Given the description of an element on the screen output the (x, y) to click on. 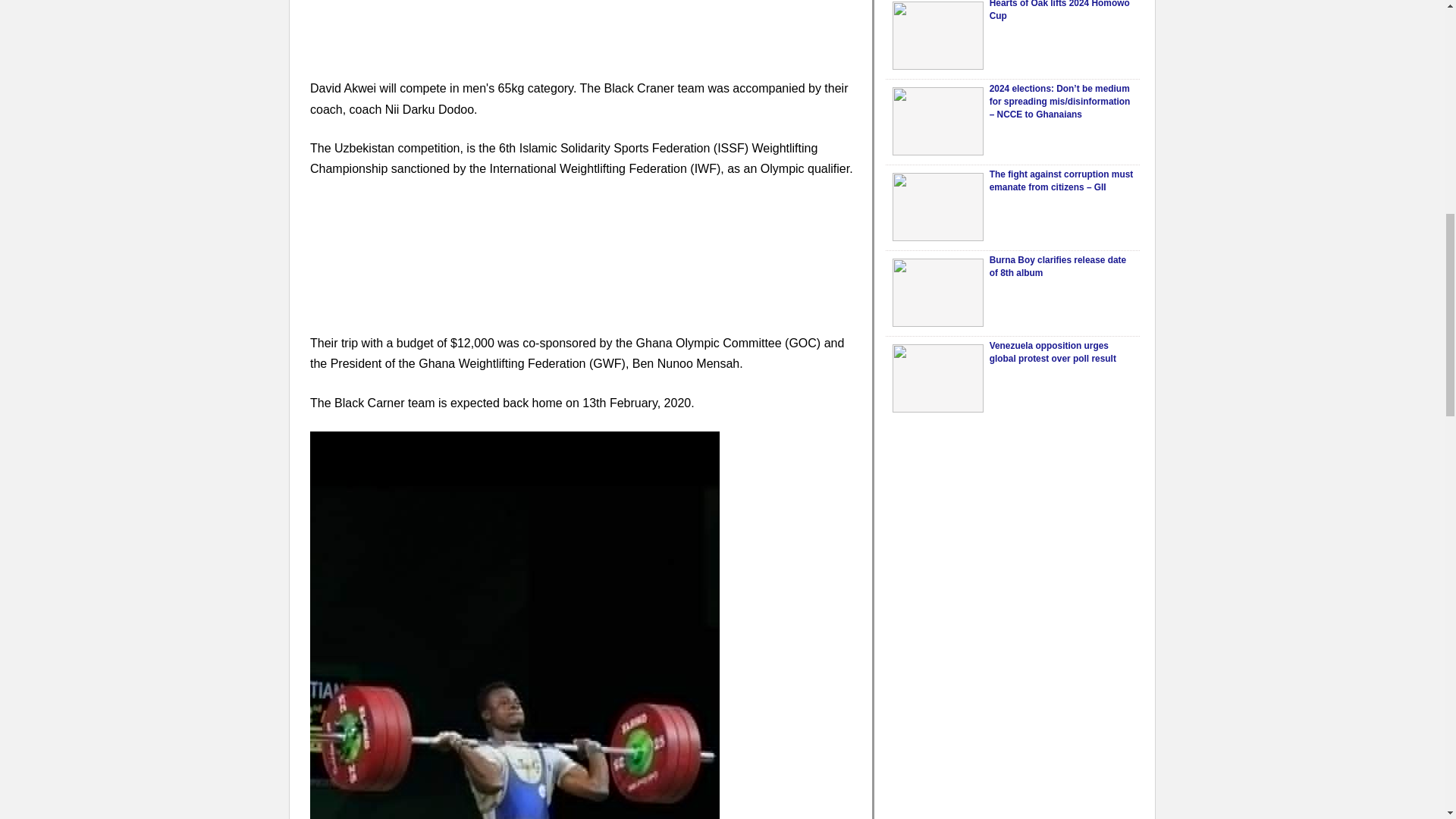
Burna Boy clarifies release date of 8th album (1057, 266)
Hearts of Oak lifts 2024 Homowo Cup (938, 35)
Venezuela opposition urges global protest over poll result (1053, 351)
Hearts of Oak lifts 2024 Homowo Cup (1059, 10)
